Given the description of an element on the screen output the (x, y) to click on. 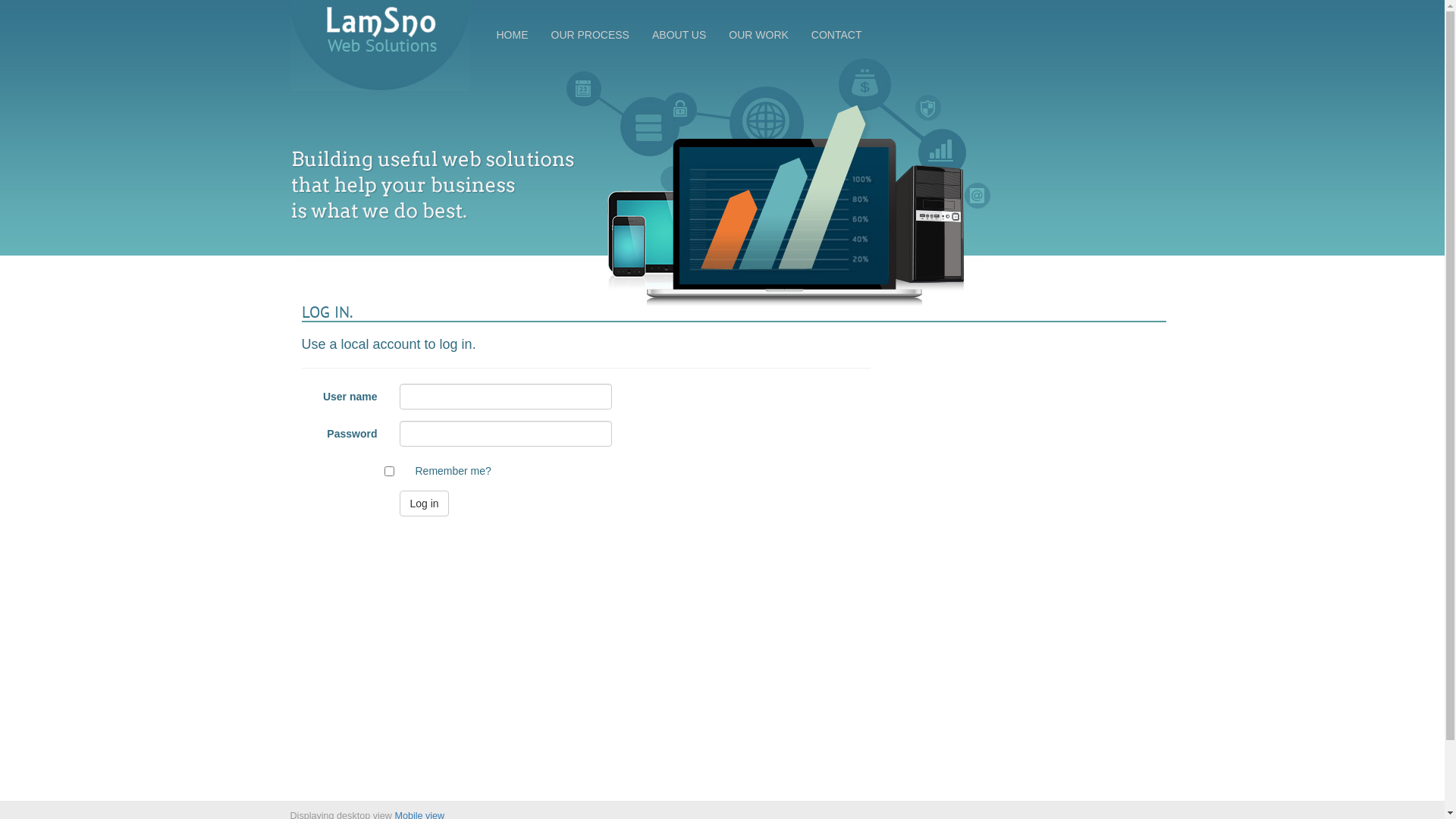
CONTACT Element type: text (836, 34)
ABOUT US Element type: text (678, 34)
Log in Element type: text (423, 503)
HOME Element type: text (512, 34)
OUR WORK Element type: text (758, 34)
OUR PROCESS Element type: text (589, 34)
